Given the description of an element on the screen output the (x, y) to click on. 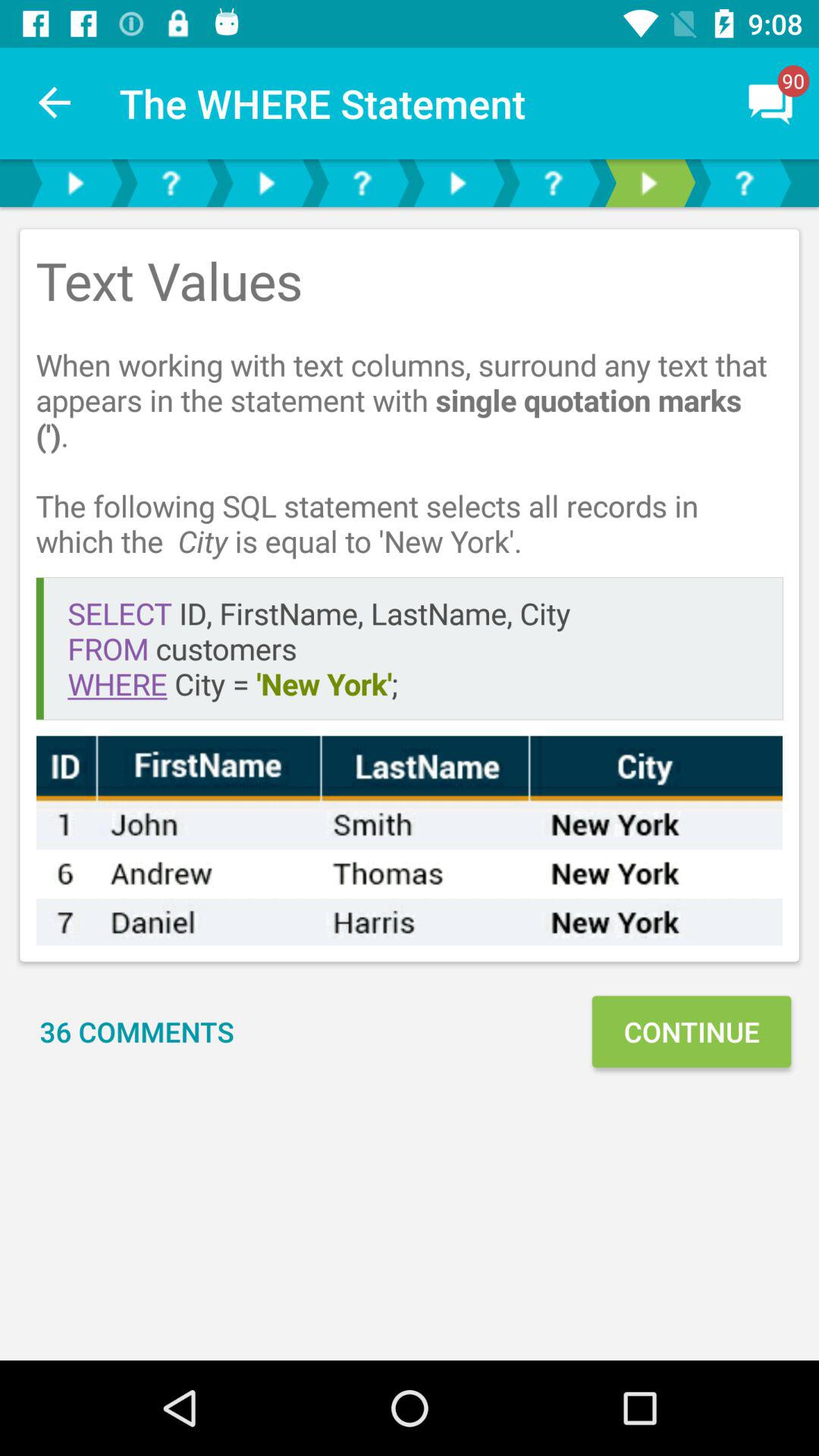
chart area with data (409, 840)
